Given the description of an element on the screen output the (x, y) to click on. 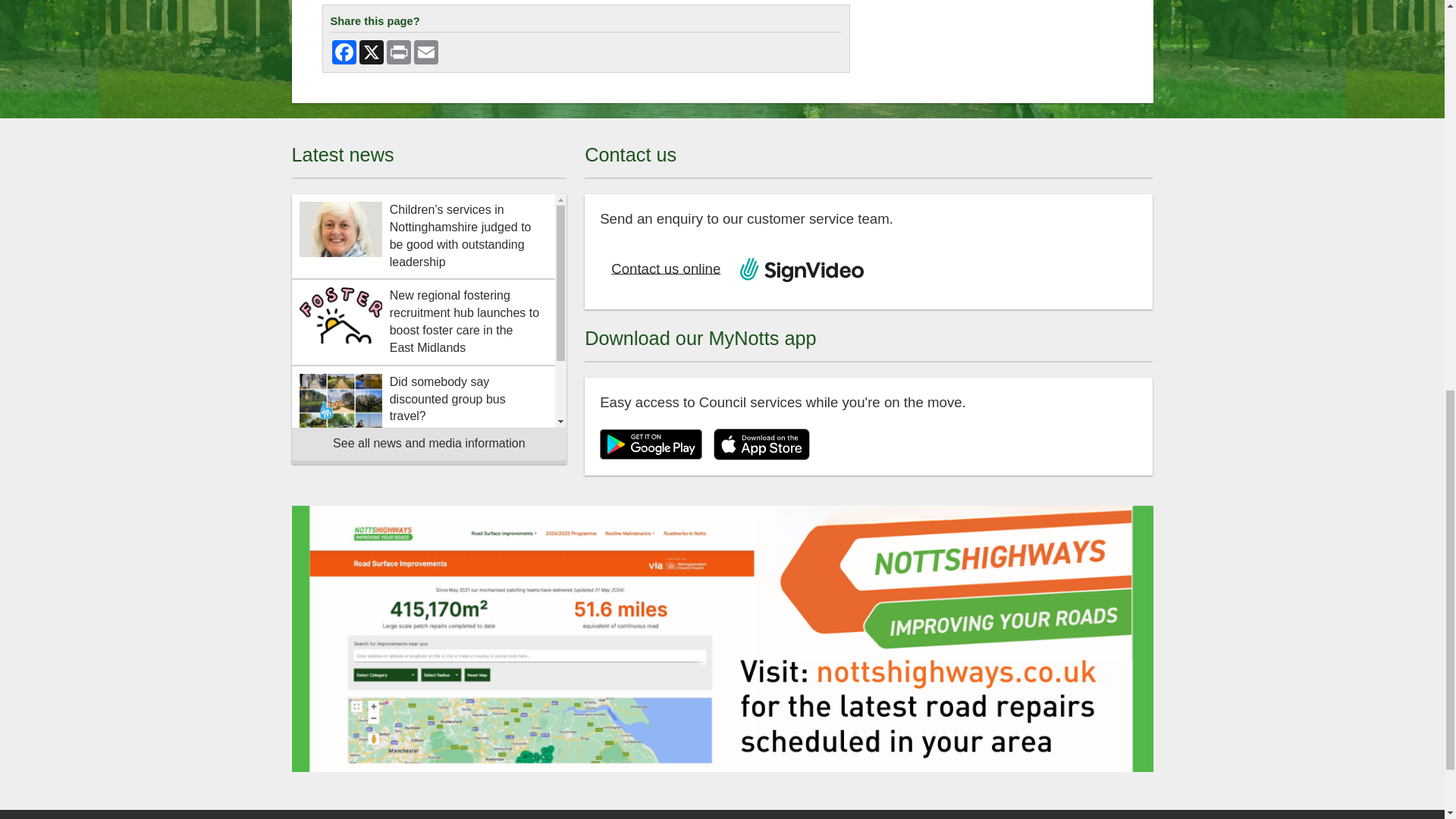
More News and updates (428, 445)
Contact us online (663, 269)
X (371, 52)
Did somebody say discounted group bus travel? (422, 402)
Facebook (344, 52)
Email (425, 52)
Read our cookie policy. (1080, 20)
Accept cookies (721, 57)
See all news and media information (428, 445)
Print (398, 52)
